Given the description of an element on the screen output the (x, y) to click on. 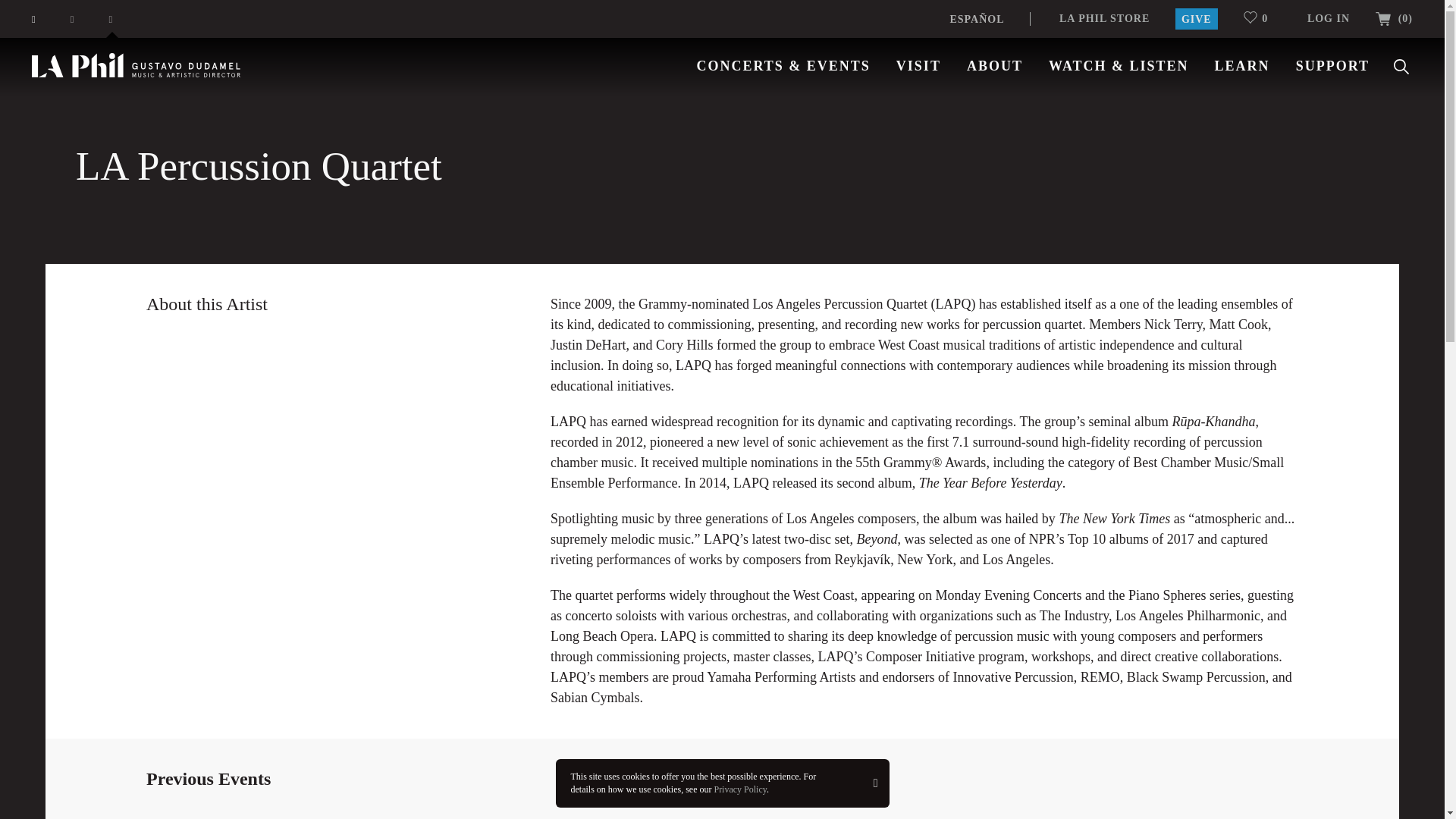
LOG IN (1328, 18)
Homepage (136, 64)
LA PHIL STORE (1104, 18)
VISIT (918, 65)
GIVE (1195, 18)
0 (1262, 18)
ABOUT (994, 65)
